Given the description of an element on the screen output the (x, y) to click on. 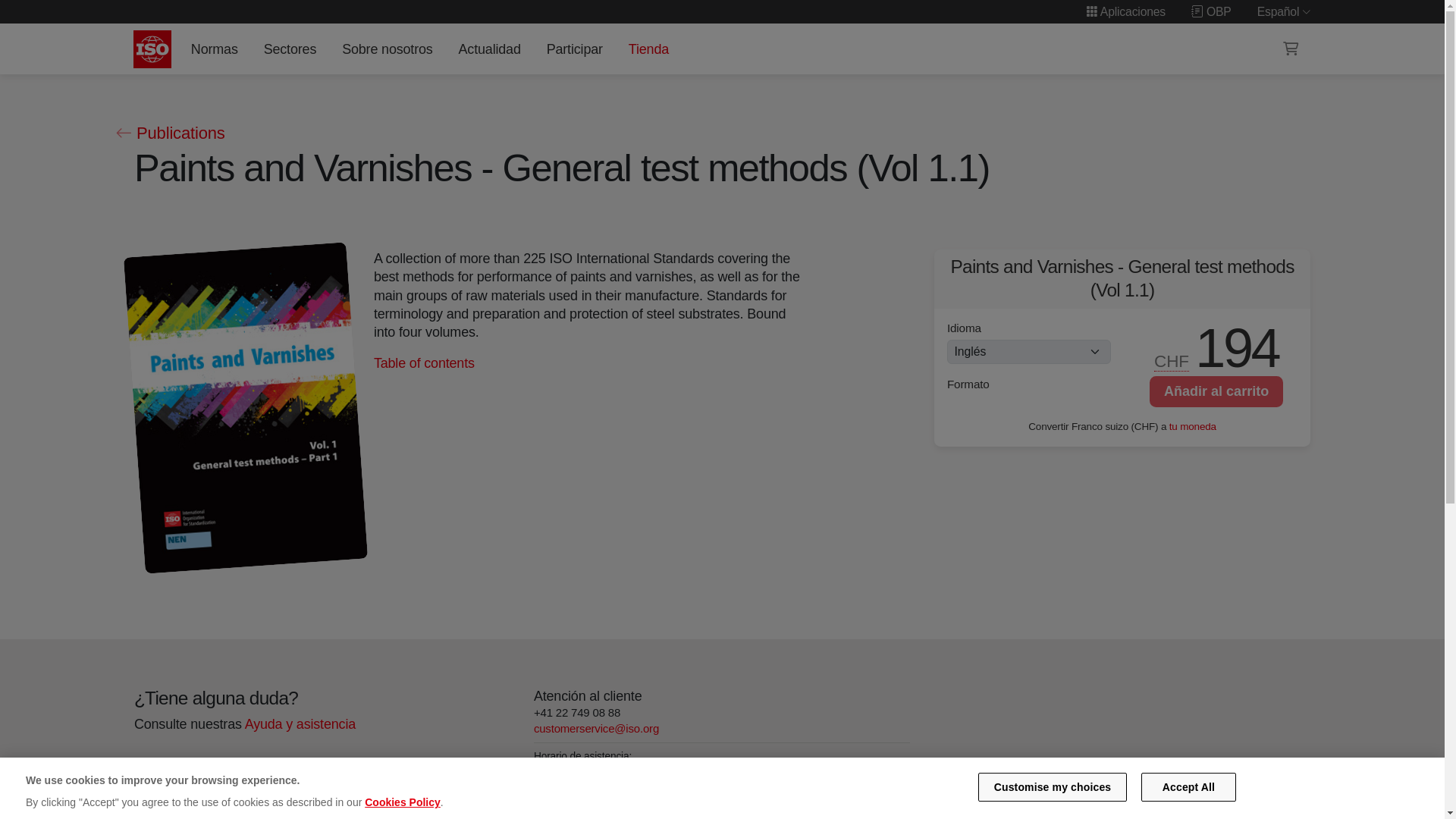
 OBP (1211, 11)
Participar (574, 48)
Portal de aplicaciones de ISO (1126, 11)
Actualidad (489, 48)
Publications (169, 133)
Table of contents (423, 363)
Sectores (290, 48)
Ayuda y asistencia (299, 724)
Francos suizos (1171, 361)
